Given the description of an element on the screen output the (x, y) to click on. 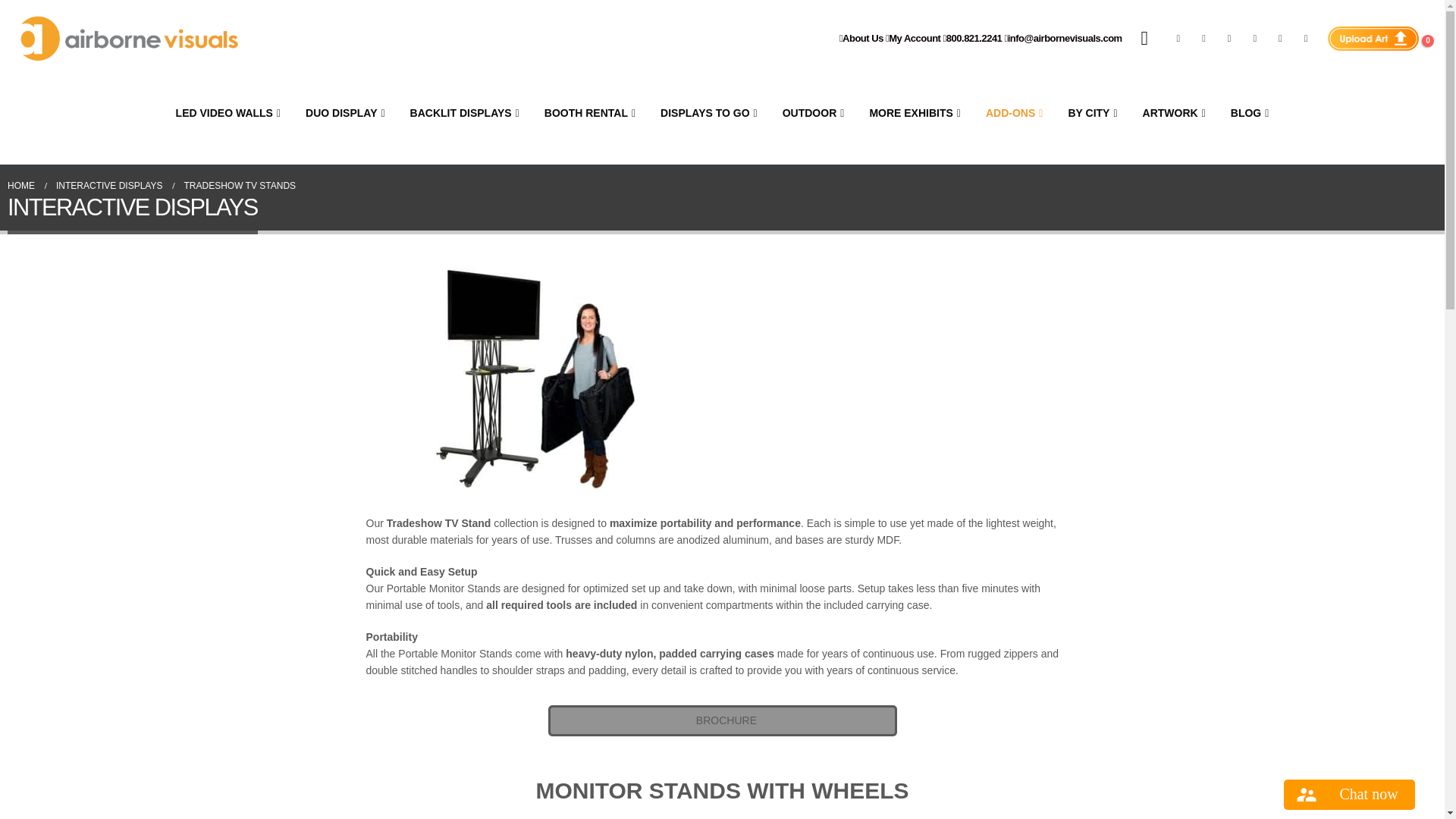
Instagram (1279, 38)
Pinterest (1229, 38)
LinkedIn (1305, 38)
Airborne Visuals - Expert in Trade Show LED Video walls (128, 38)
800.821.2241 (973, 38)
Chat now (1349, 794)
RSS (1203, 38)
EZ Fold Wheeled TV Stand (903, 359)
BOOTH RENTAL (589, 112)
LED VIDEO WALLS (227, 112)
About Us (861, 38)
Go to Home Page (20, 185)
BACKLIT DISPLAYS (464, 112)
Facebook (1178, 38)
My Account (912, 38)
